Given the description of an element on the screen output the (x, y) to click on. 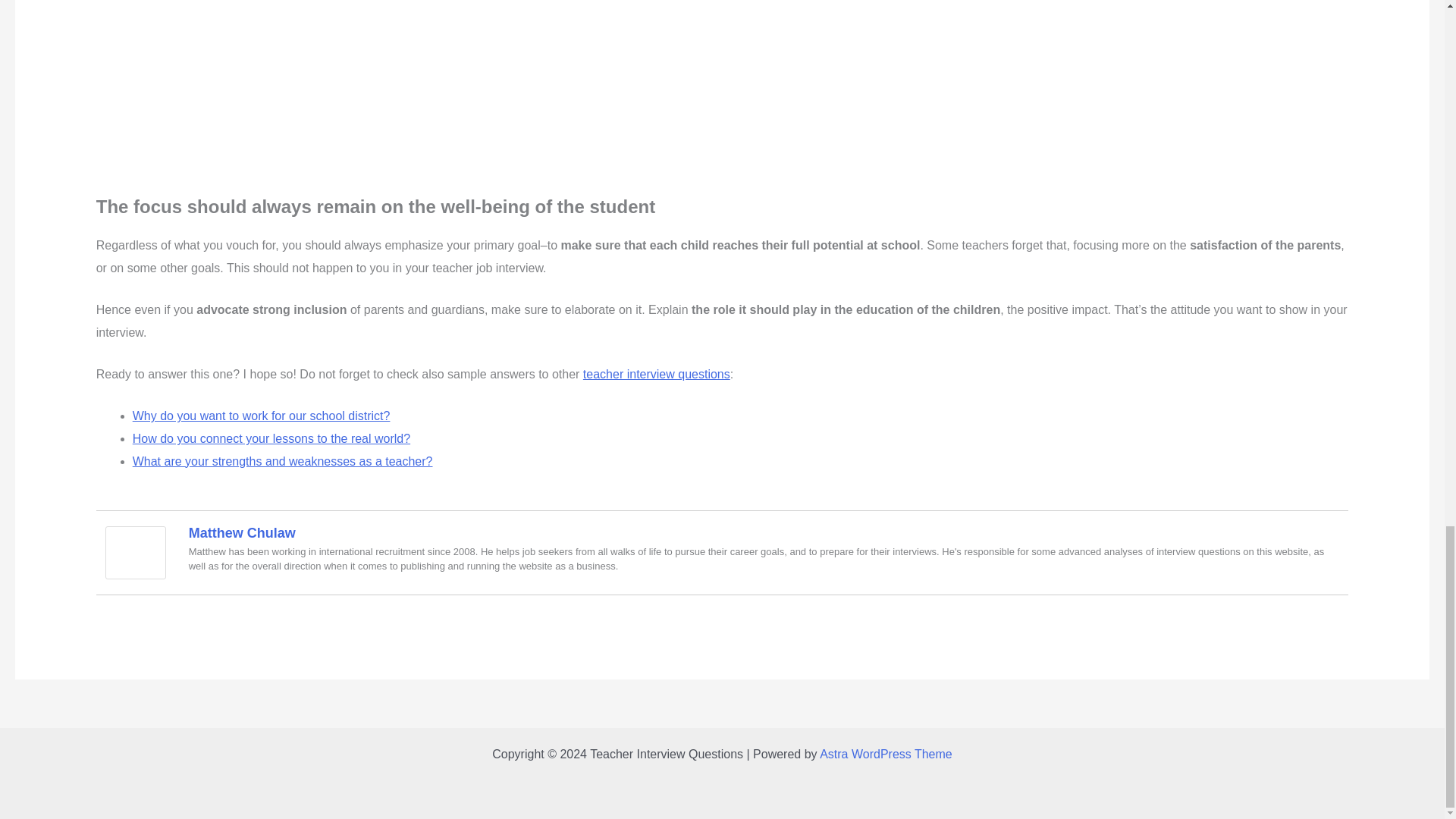
Why do you want to work for our school district? (261, 415)
What are your strengths and weaknesses as a teacher? (282, 461)
Matthew Chulaw (242, 532)
How do you connect your lessons to the real world? (271, 438)
teacher interview questions (656, 373)
Astra WordPress Theme (885, 753)
Matthew Chulaw (134, 551)
